Given the description of an element on the screen output the (x, y) to click on. 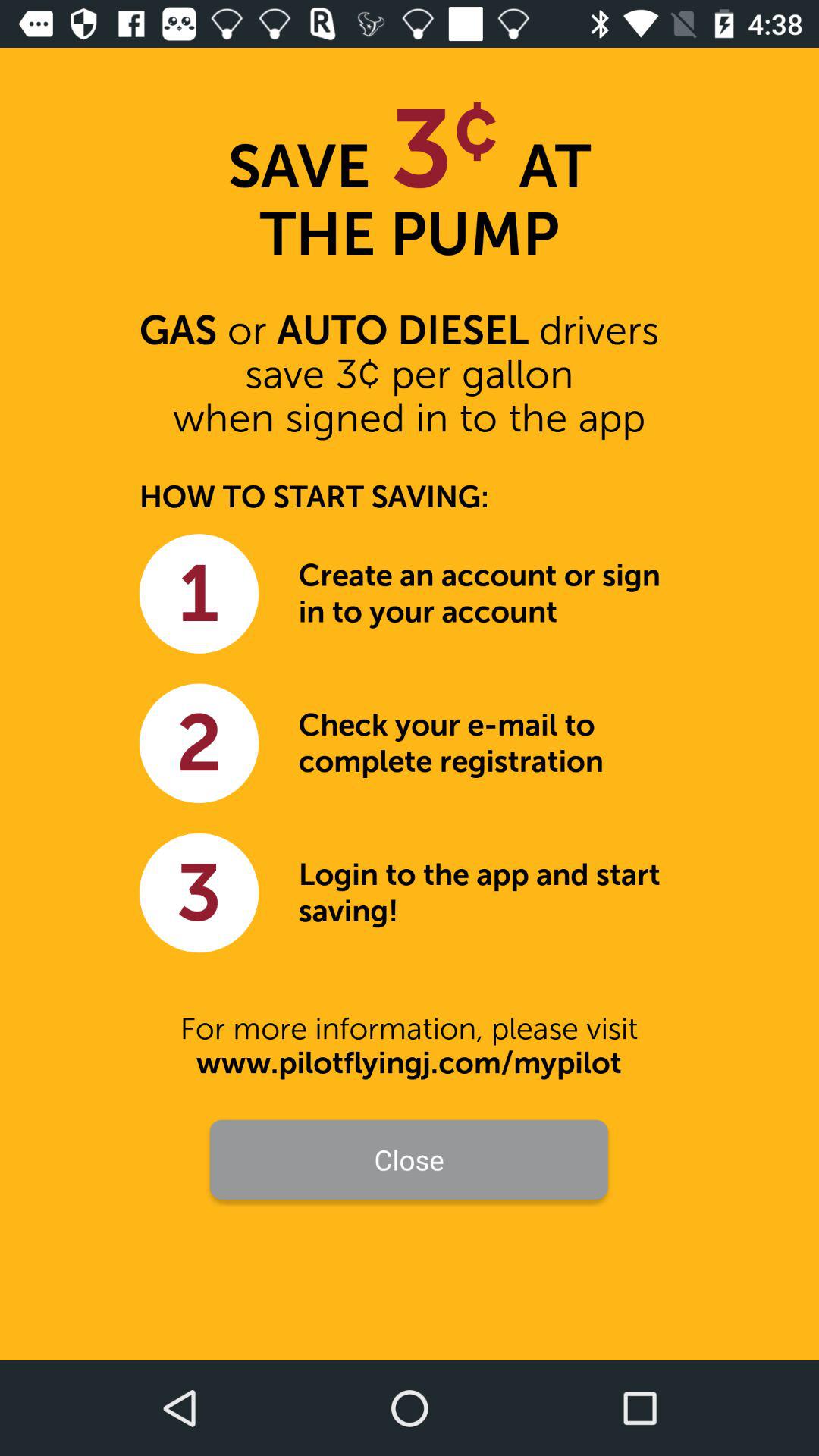
turn off the close item (408, 1159)
